Given the description of an element on the screen output the (x, y) to click on. 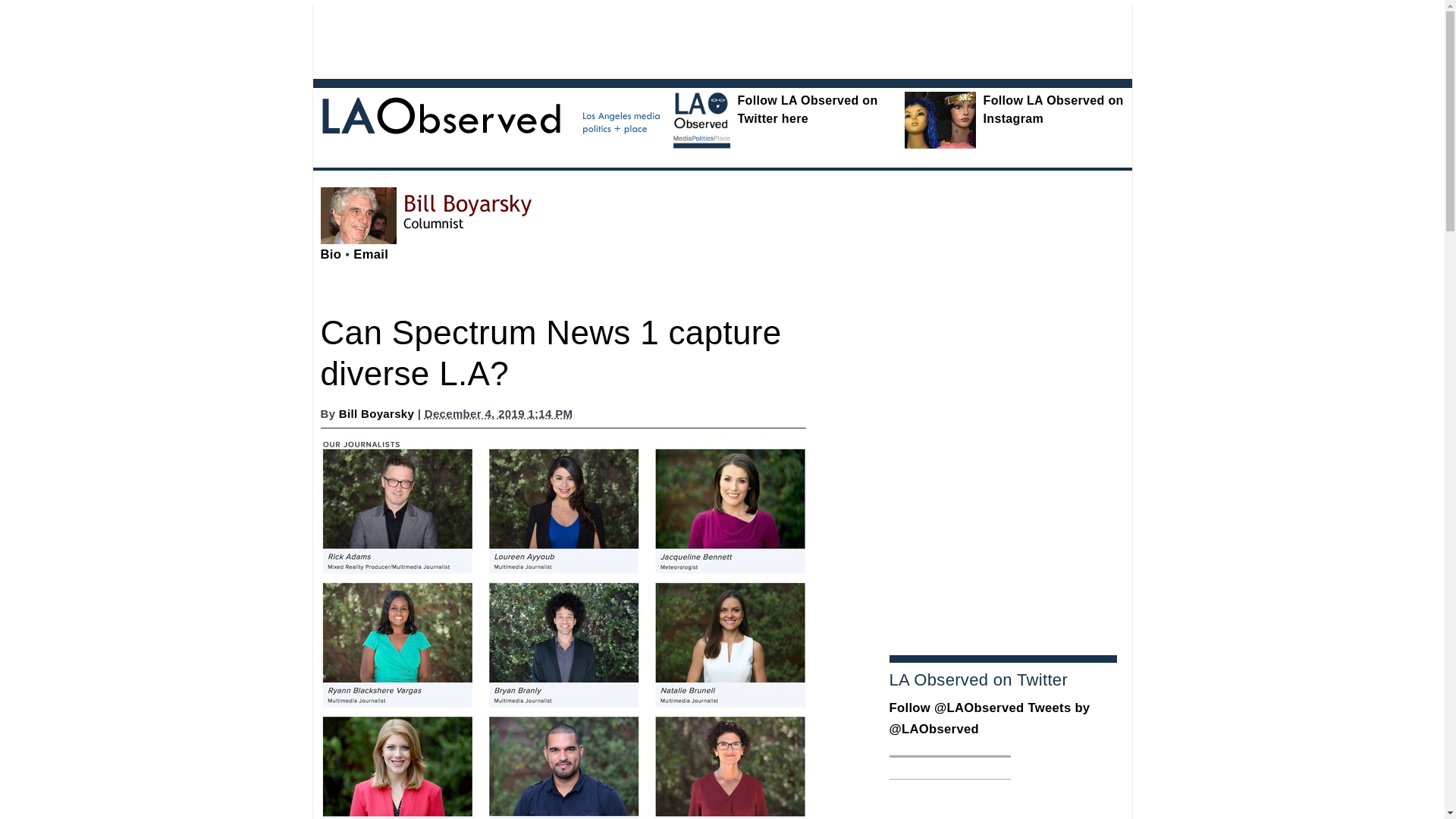
Bill Boyarsky (376, 413)
Bio (330, 254)
Follow LA Observed on Instagram (1054, 109)
Email (370, 254)
Follow LA Observed on Twitter here (806, 109)
2019-12-04T13:14:21-08:00 (499, 413)
